Given the description of an element on the screen output the (x, y) to click on. 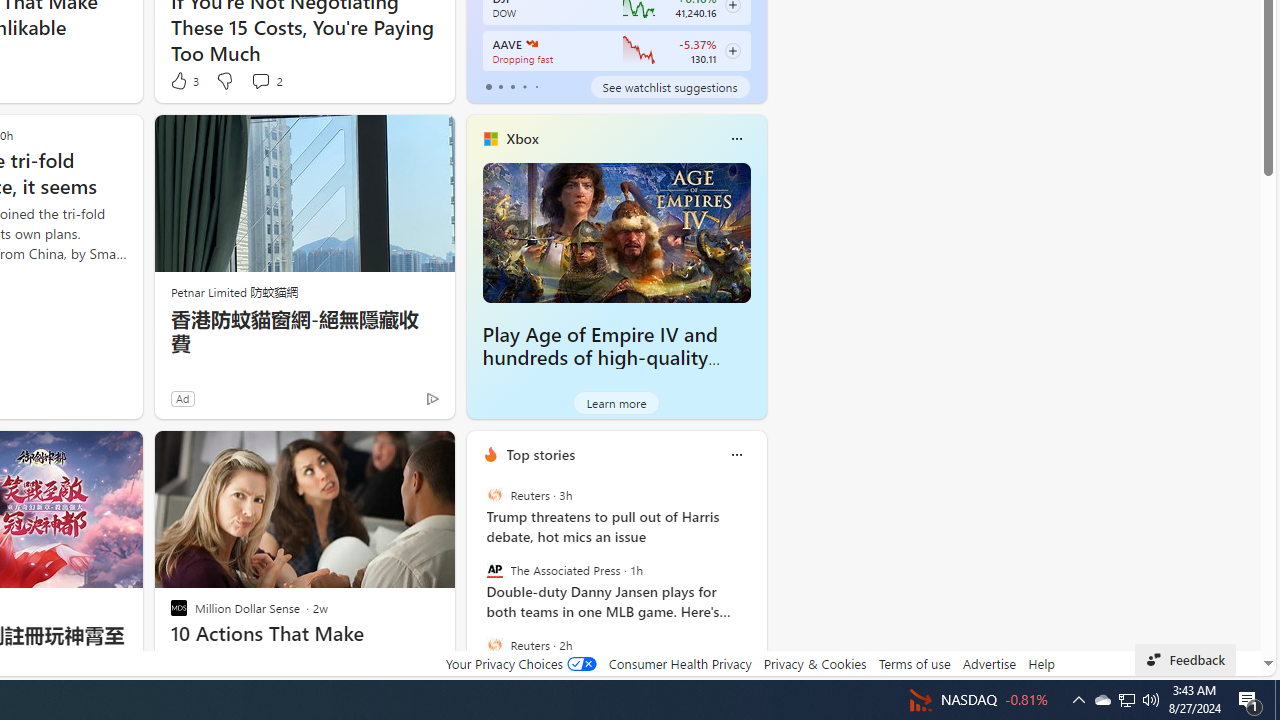
Class: follow-button  m (732, 51)
Xbox (521, 139)
The Associated Press (494, 570)
previous (476, 583)
Reuters (494, 644)
View comments 2 Comment (260, 80)
tab-4 (535, 86)
Class: icon-img (736, 454)
tab-2 (511, 86)
